Given the description of an element on the screen output the (x, y) to click on. 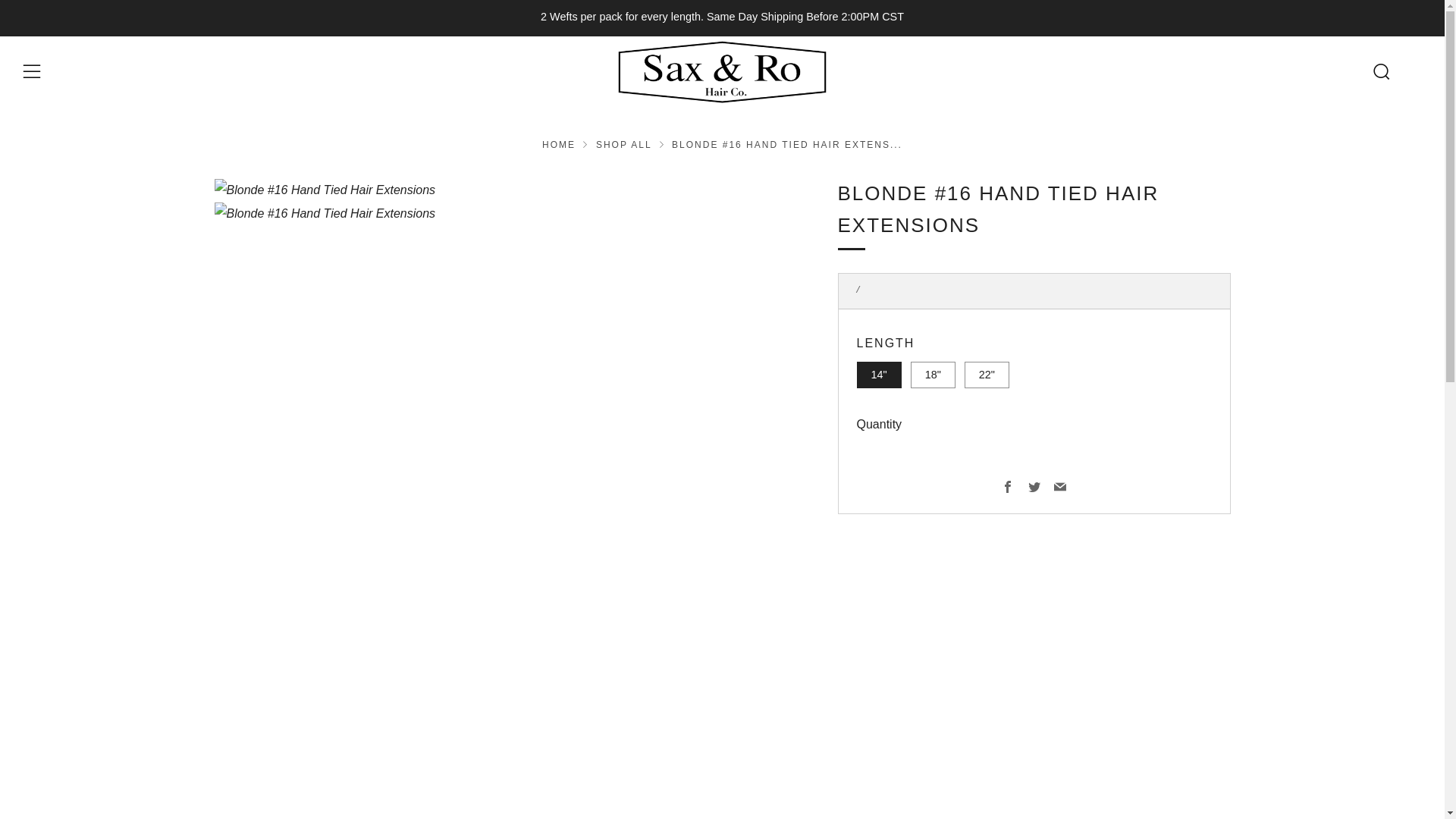
Search (1380, 71)
Home (558, 144)
Menu (31, 72)
